Given the description of an element on the screen output the (x, y) to click on. 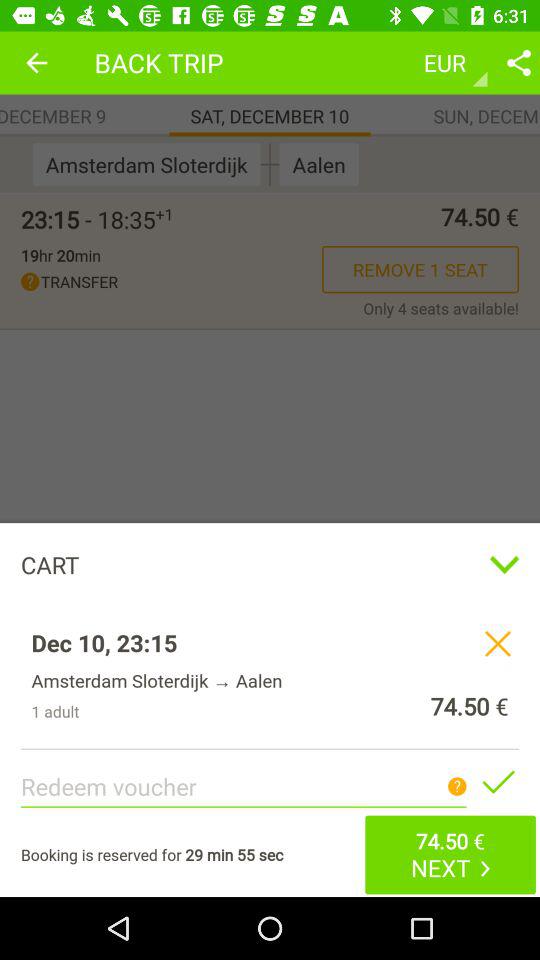
share button (519, 62)
